Given the description of an element on the screen output the (x, y) to click on. 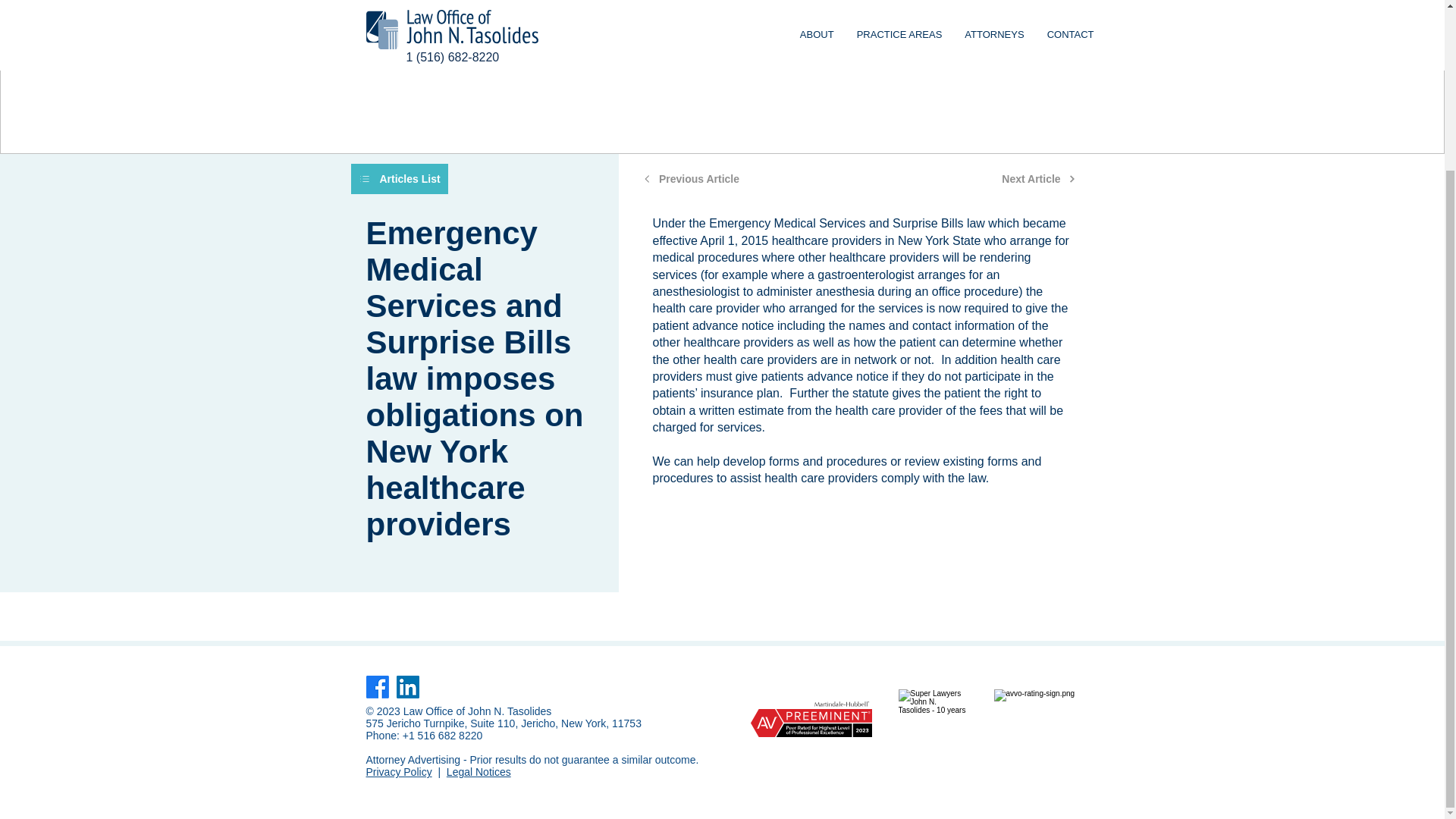
Legal Notices (478, 771)
Next Article (1039, 178)
Law Office of John N. Tasolides (477, 711)
Privacy Policy (397, 771)
Previous Article (691, 178)
Articles List (398, 178)
